Given the description of an element on the screen output the (x, y) to click on. 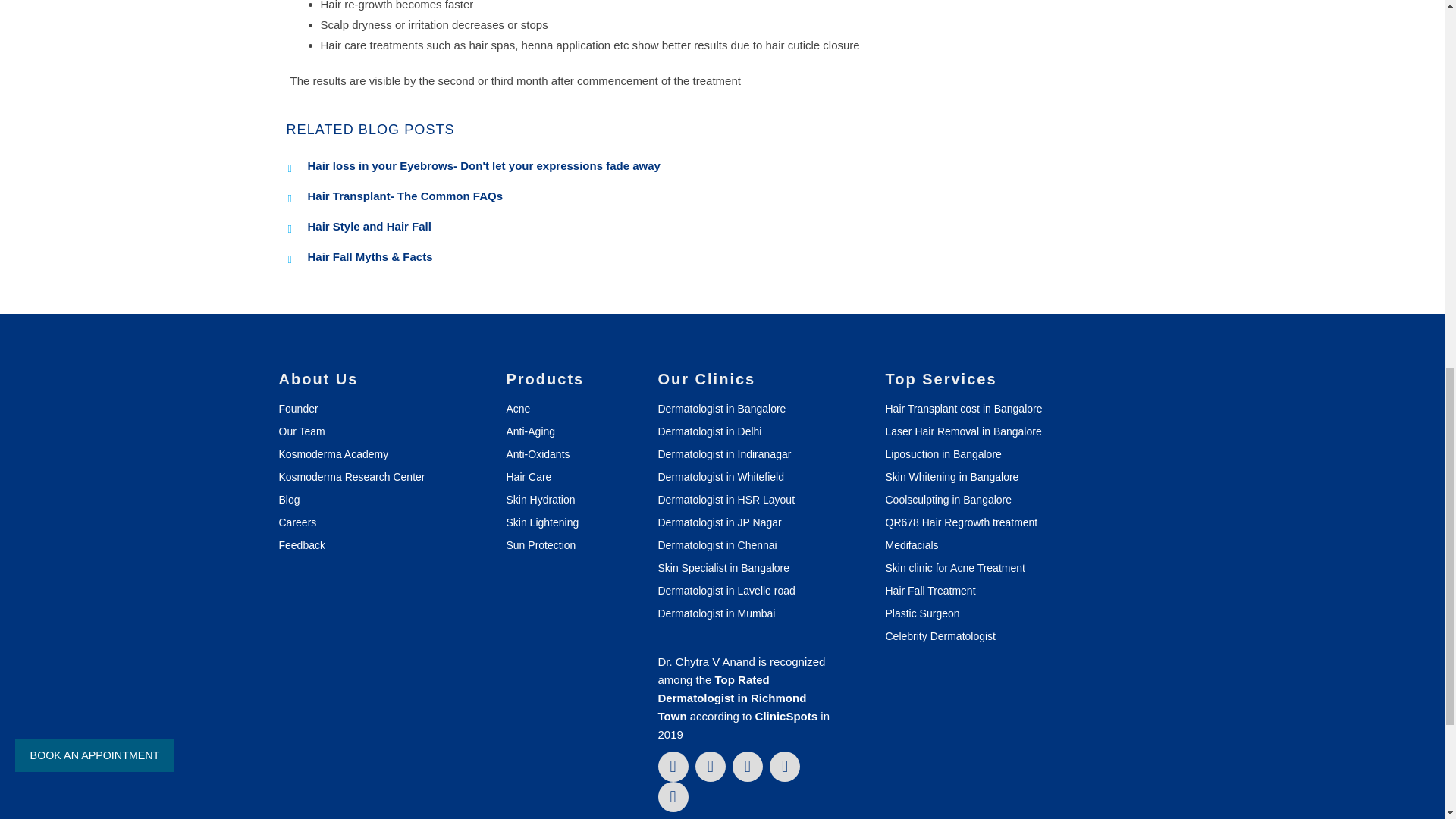
option5 (18, 341)
